Given the description of an element on the screen output the (x, y) to click on. 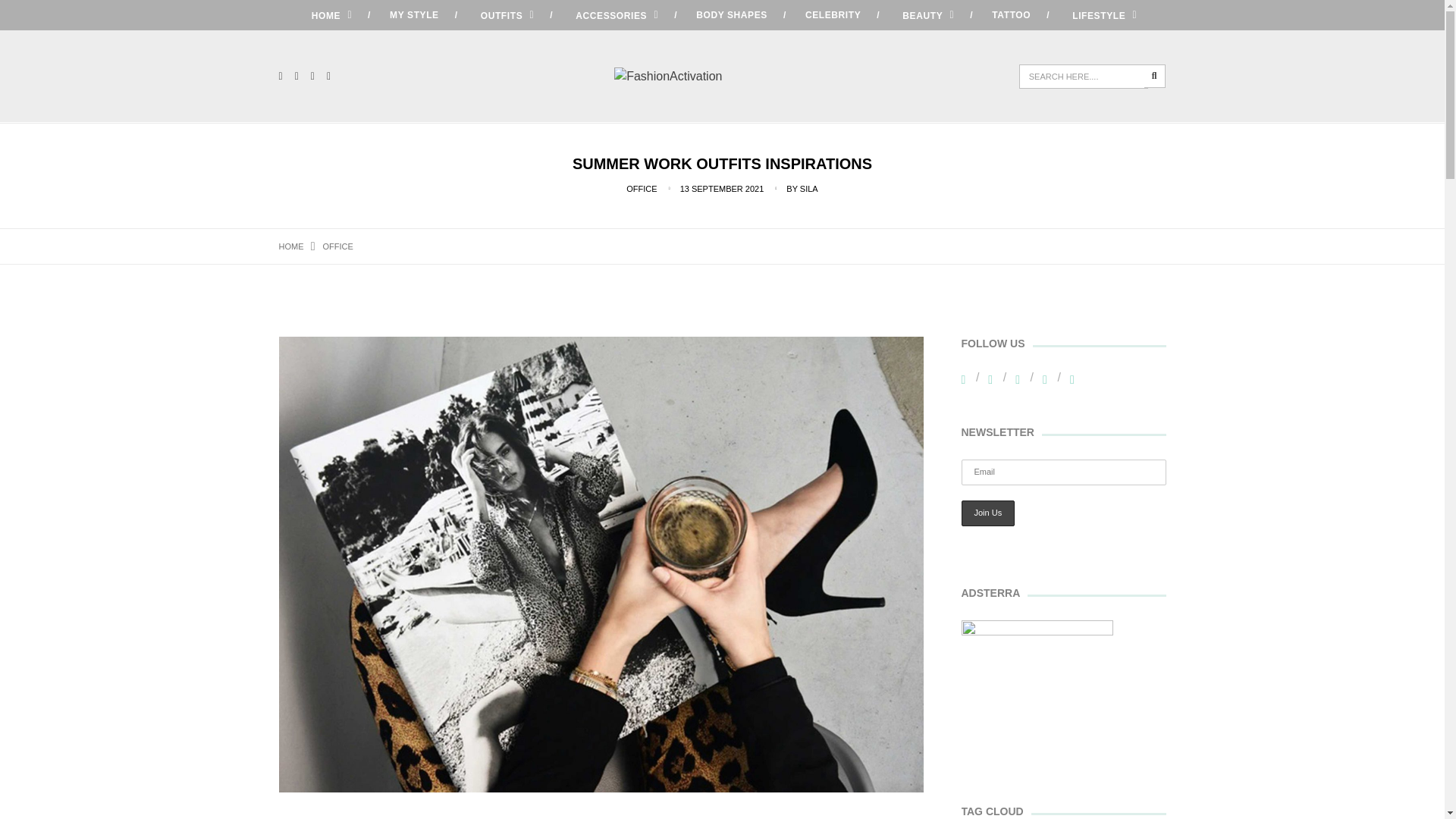
Browse to: Home (291, 245)
BEAUTY (925, 15)
CELEBRITY (832, 15)
ACCESSORIES (615, 15)
BODY SHAPES (731, 15)
TATTOO (1010, 15)
Adsterra (1036, 695)
Office (338, 245)
OUTFITS (505, 15)
MY STYLE (414, 15)
